Given the description of an element on the screen output the (x, y) to click on. 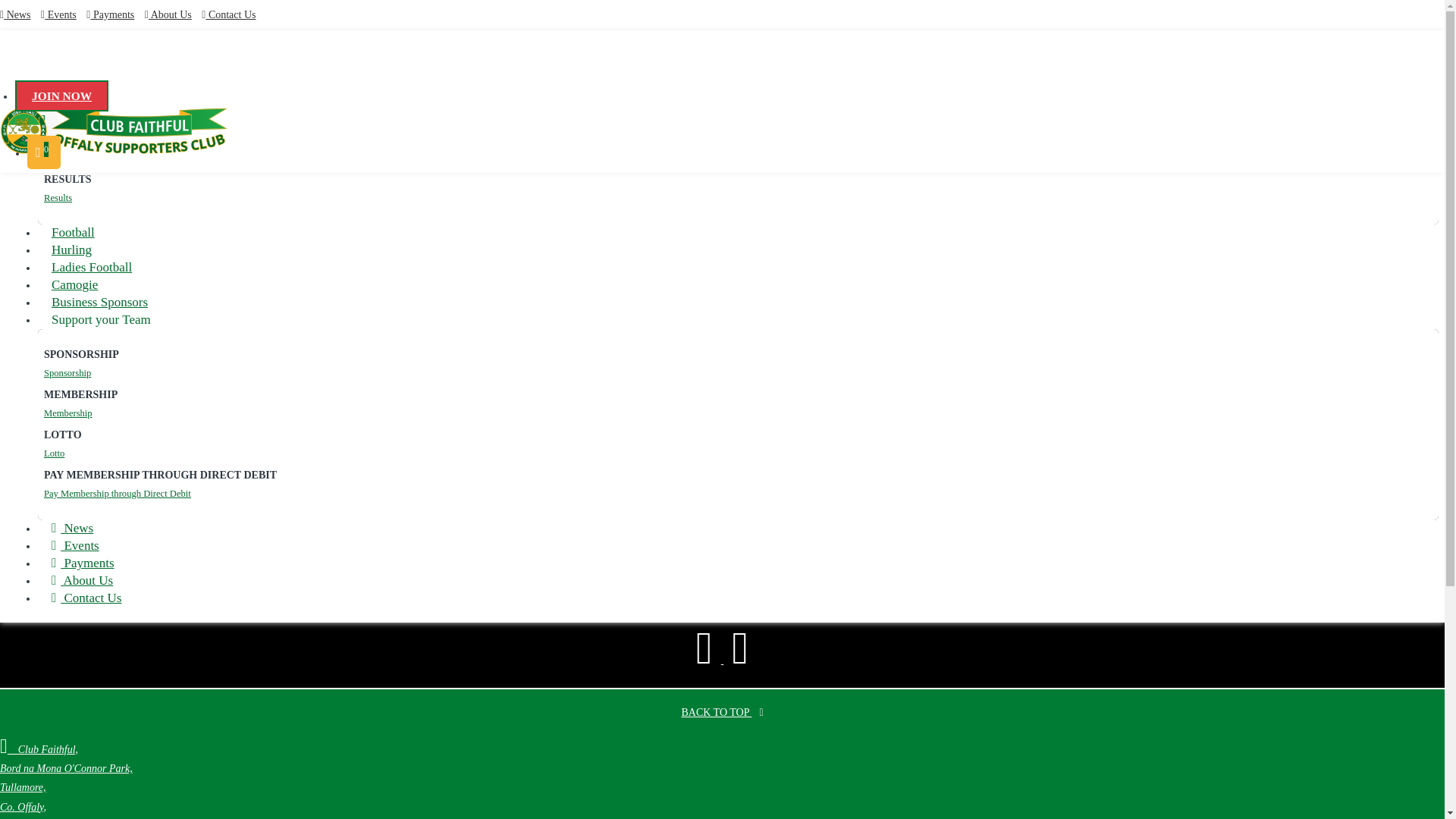
Football (66, 170)
0 (44, 152)
Hurling (65, 187)
JOIN NOW (60, 95)
Business Sponsors (99, 301)
Results (734, 198)
Sponsorship (67, 283)
Camogie (74, 284)
Sponsorship (734, 373)
Fixtures (66, 120)
Payments (113, 14)
Ladies Football (91, 266)
Fixtures (72, 143)
Lotto (54, 318)
